Given the description of an element on the screen output the (x, y) to click on. 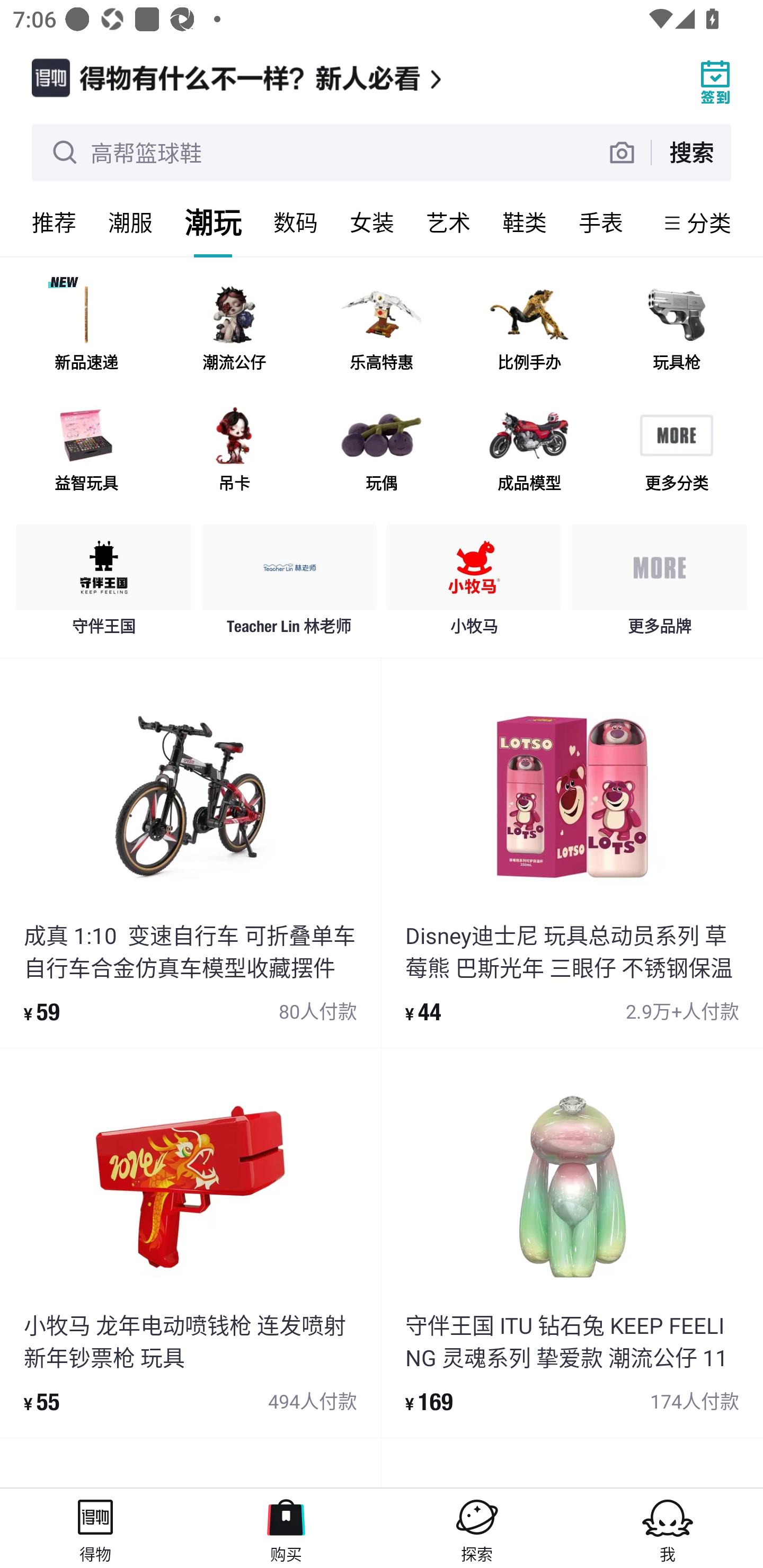
搜索 (690, 152)
推荐 (54, 222)
潮服 (130, 222)
潮玩 (212, 222)
数码 (295, 222)
女装 (372, 222)
艺术 (448, 222)
鞋类 (524, 222)
手表 (601, 222)
分类 (708, 222)
新品速递 (86, 329)
潮流公仔 (233, 329)
乐高特惠 (381, 329)
比例手办 (528, 329)
玩具枪 (676, 329)
益智玩具 (86, 450)
吊卡 (233, 450)
玩偶 (381, 450)
成品模型 (528, 450)
更多分类 (676, 450)
守伴王国 (103, 583)
Teacher Lin 林老师 (288, 583)
小牧马 (473, 583)
更多品牌 (658, 583)
product_item 小牧马 龙年电动喷钱枪 连发喷射
新年钞票枪 玩具 ¥ 55 494人付款 (190, 1242)
得物 (95, 1528)
购买 (285, 1528)
探索 (476, 1528)
我 (667, 1528)
